Given the description of an element on the screen output the (x, y) to click on. 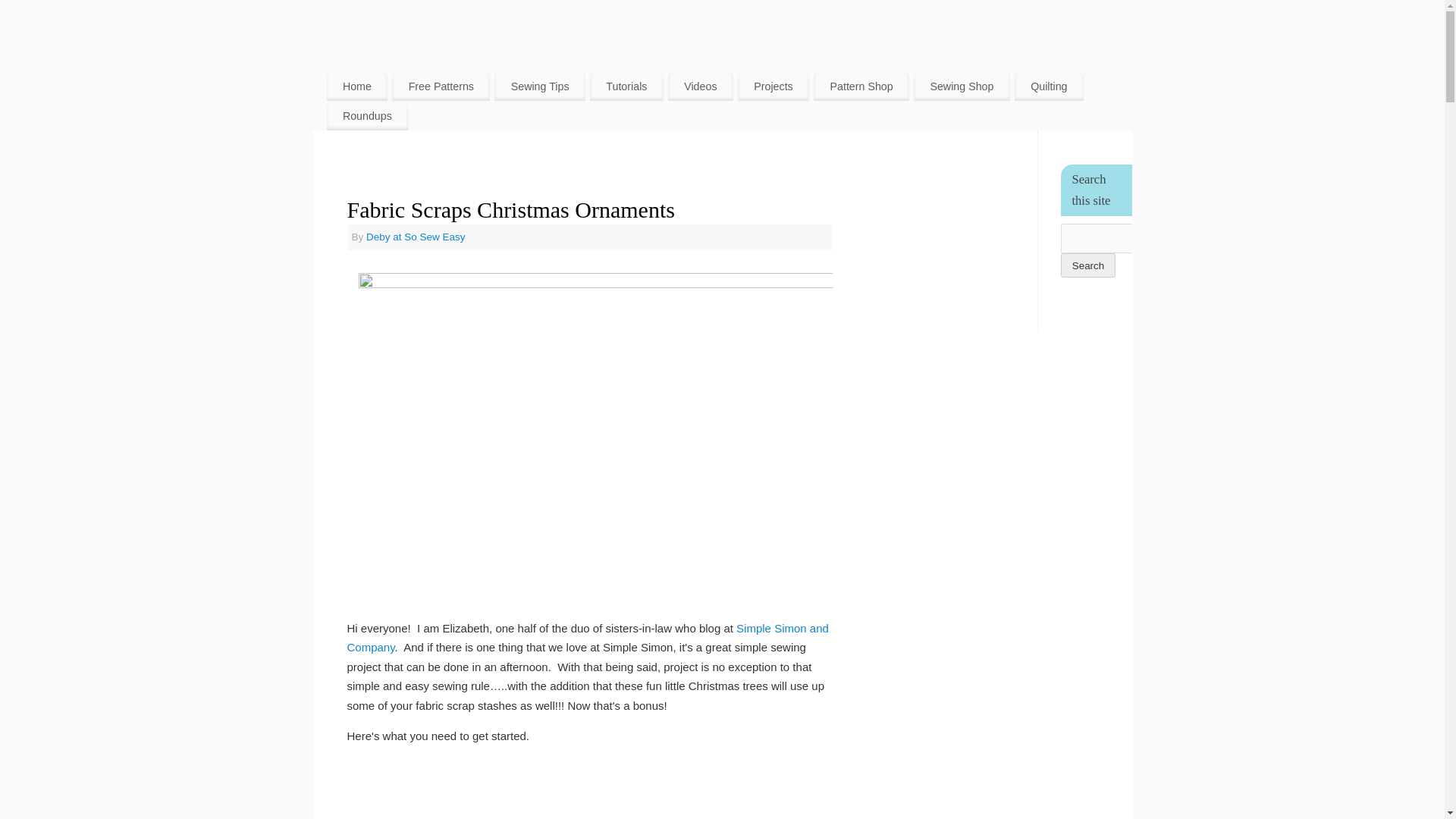
Search (1087, 265)
Pattern Shop (860, 86)
Videos (700, 86)
Projects (773, 86)
View all posts by Deby at So Sew Easy (415, 236)
Sewing Shop (962, 86)
Simple Simon and Company (587, 637)
Roundups (366, 114)
Free Patterns (440, 86)
So Sew Easy Patterns for Sale (860, 86)
